Given the description of an element on the screen output the (x, y) to click on. 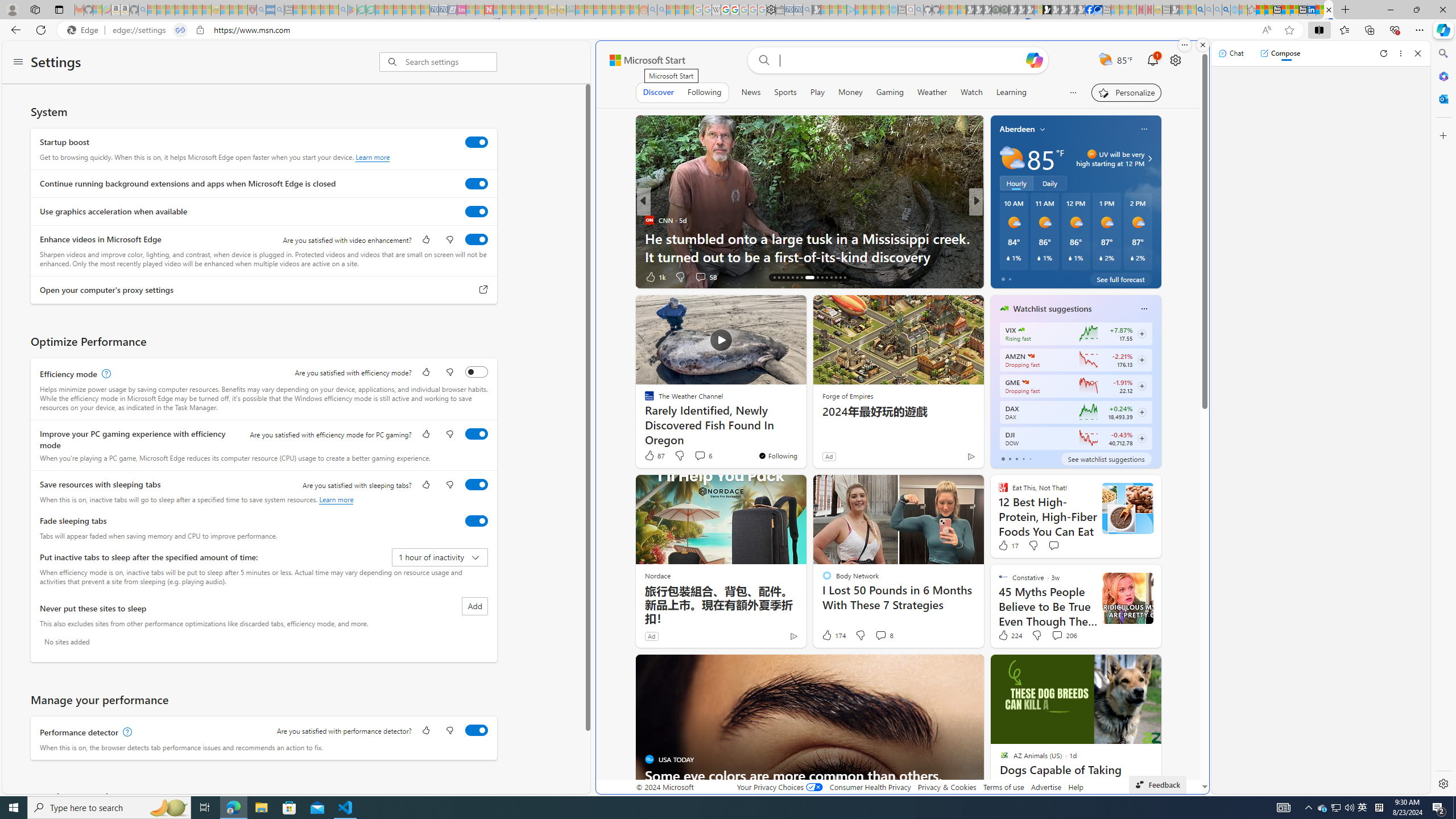
Efficiency mode, learn more (104, 374)
AZ Animals (US) (999, 219)
32 Like (1005, 276)
224 Like (1009, 634)
187 Like (1007, 276)
Home | Sky Blue Bikes - Sky Blue Bikes - Sleeping (892, 9)
View comments 206 Comment (1063, 634)
News (750, 92)
Cheap Car Rentals - Save70.com - Sleeping (798, 9)
